Given the description of an element on the screen output the (x, y) to click on. 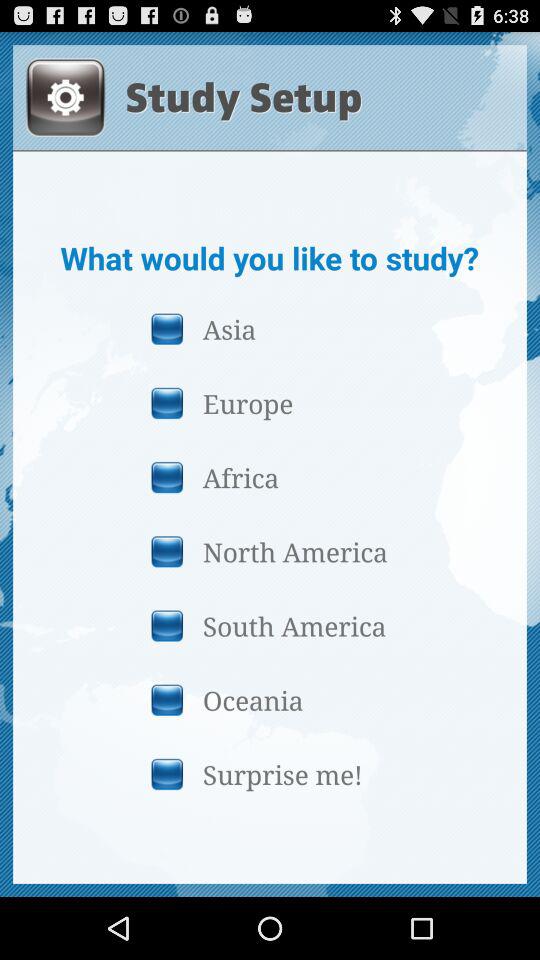
swipe until surprise me! button (269, 774)
